Given the description of an element on the screen output the (x, y) to click on. 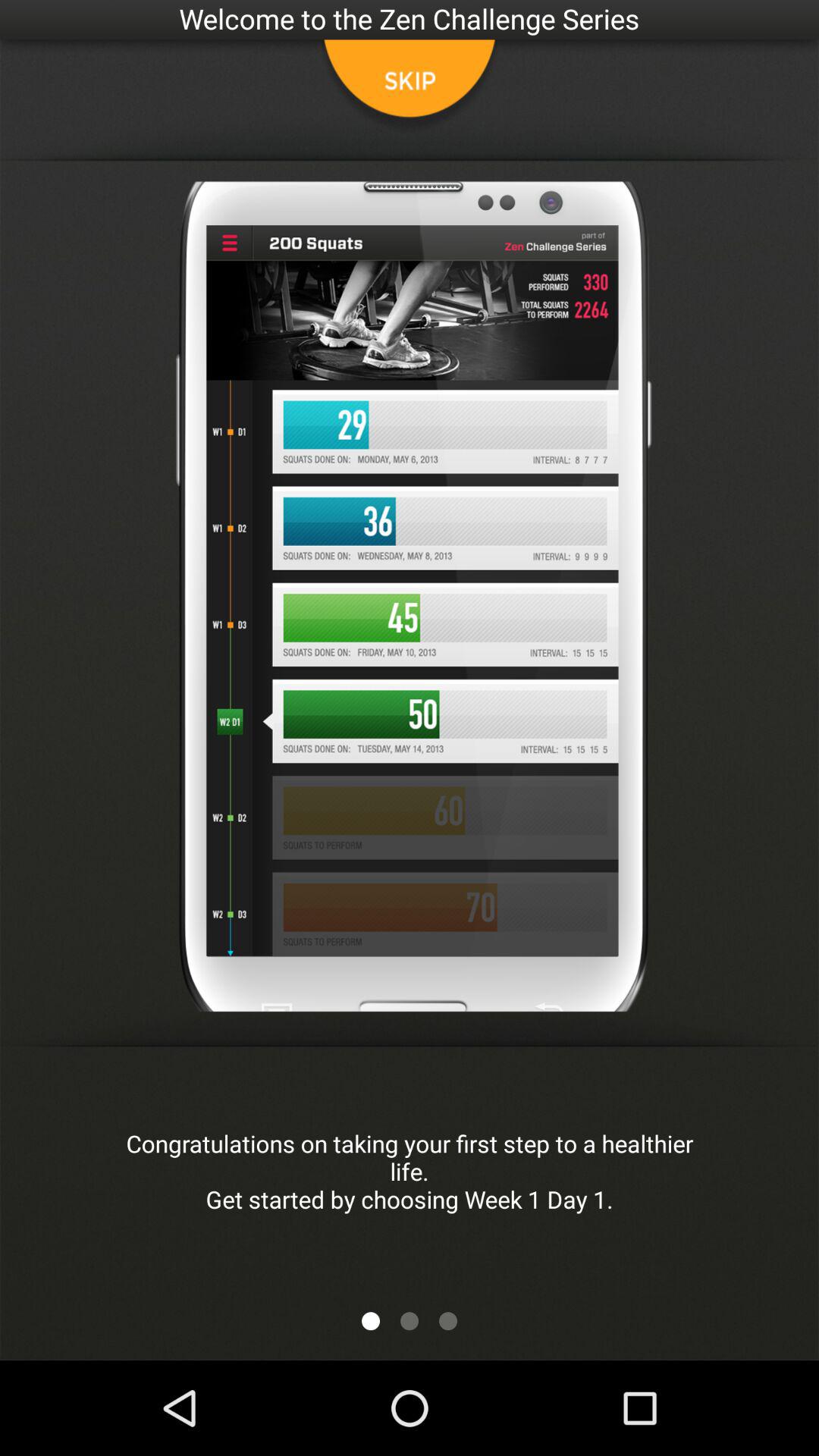
swipe to next (409, 1321)
